Given the description of an element on the screen output the (x, y) to click on. 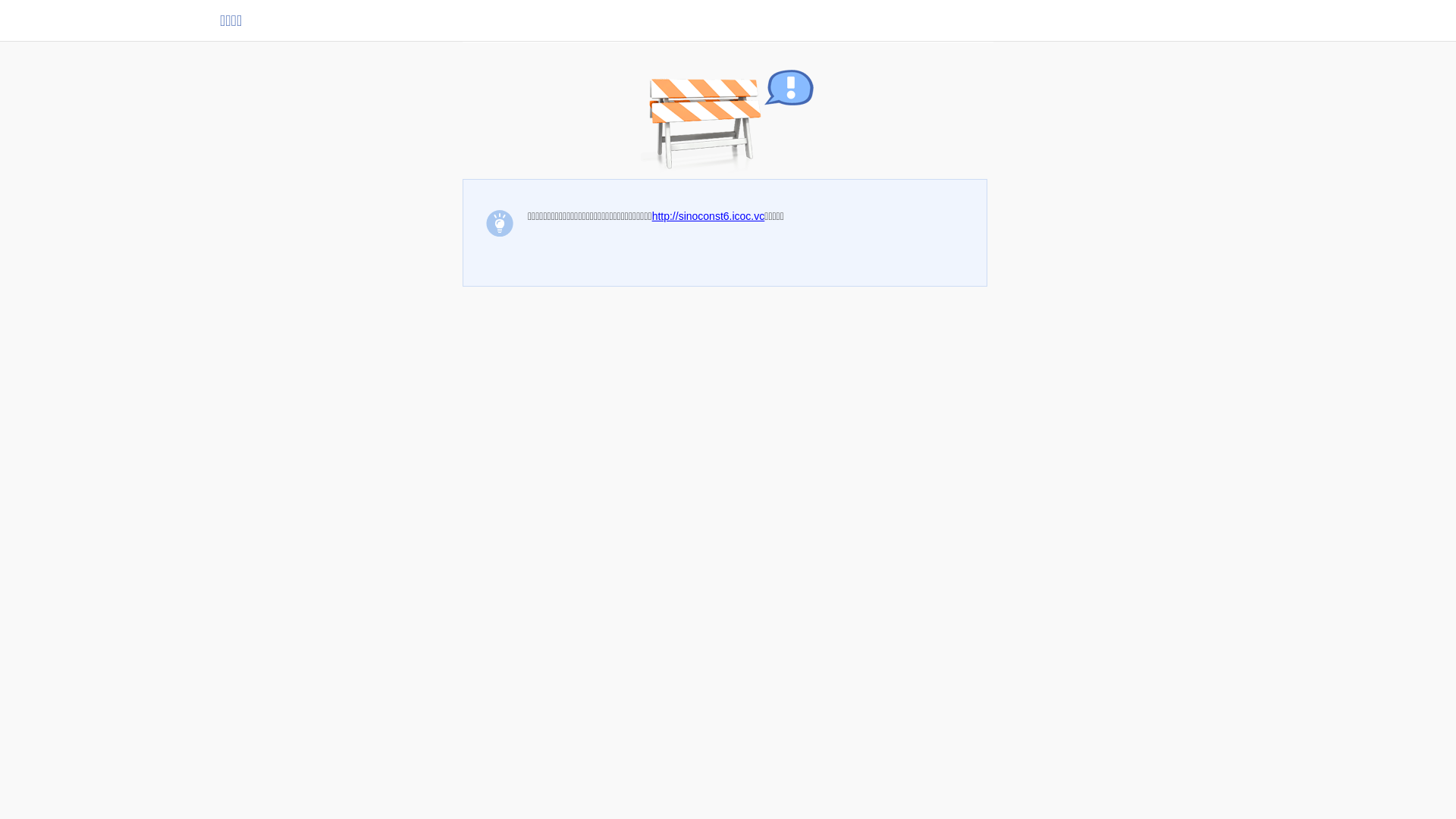
http://sinoconst6.icoc.vc Element type: text (708, 216)
